Given the description of an element on the screen output the (x, y) to click on. 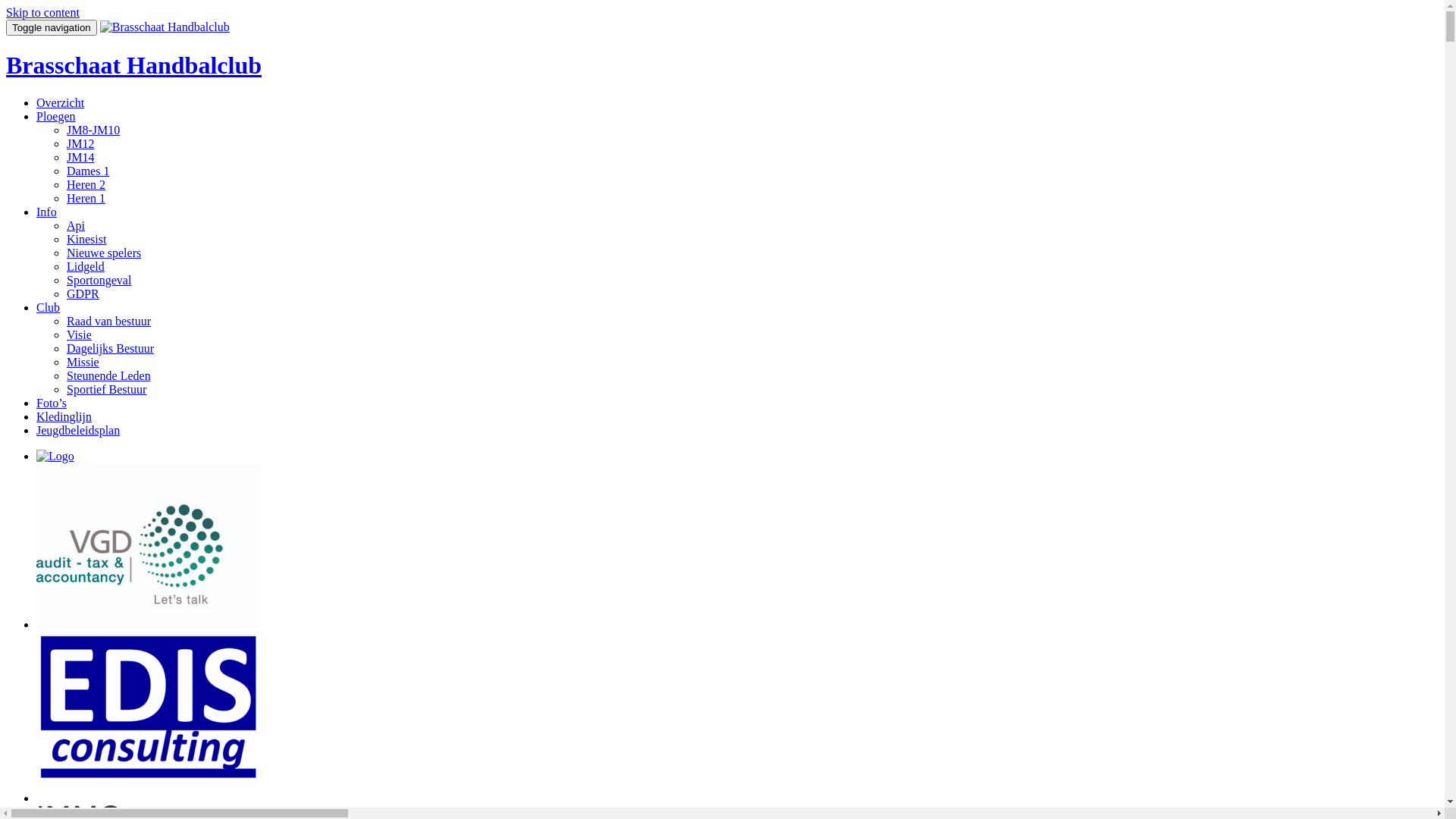
JM12 Element type: text (80, 143)
Heren 2 Element type: text (85, 184)
Ploegen Element type: text (55, 115)
Club Element type: text (47, 307)
Kledinglijn Element type: text (63, 416)
Skip to content Element type: text (42, 12)
Kinesist Element type: text (86, 238)
Sportongeval Element type: text (98, 279)
Missie Element type: text (82, 361)
Overzicht Element type: text (60, 102)
Toggle navigation Element type: text (51, 27)
Api Element type: text (75, 225)
Lidgeld Element type: text (85, 266)
Steunende Leden Element type: text (108, 375)
Sportief Bestuur Element type: text (106, 388)
Heren 1 Element type: text (85, 197)
JM8-JM10 Element type: text (92, 129)
Dagelijks Bestuur Element type: text (109, 348)
JM14 Element type: text (80, 156)
Brasschaat Handbalclub Element type: text (133, 64)
Jeugdbeleidsplan Element type: text (77, 429)
Visie Element type: text (78, 334)
Brasschaat Handbalclub Element type: hover (164, 26)
GDPR Element type: text (82, 293)
Dames 1 Element type: text (87, 170)
Nieuwe spelers Element type: text (103, 252)
Info Element type: text (46, 211)
Raad van bestuur Element type: text (108, 320)
